Given the description of an element on the screen output the (x, y) to click on. 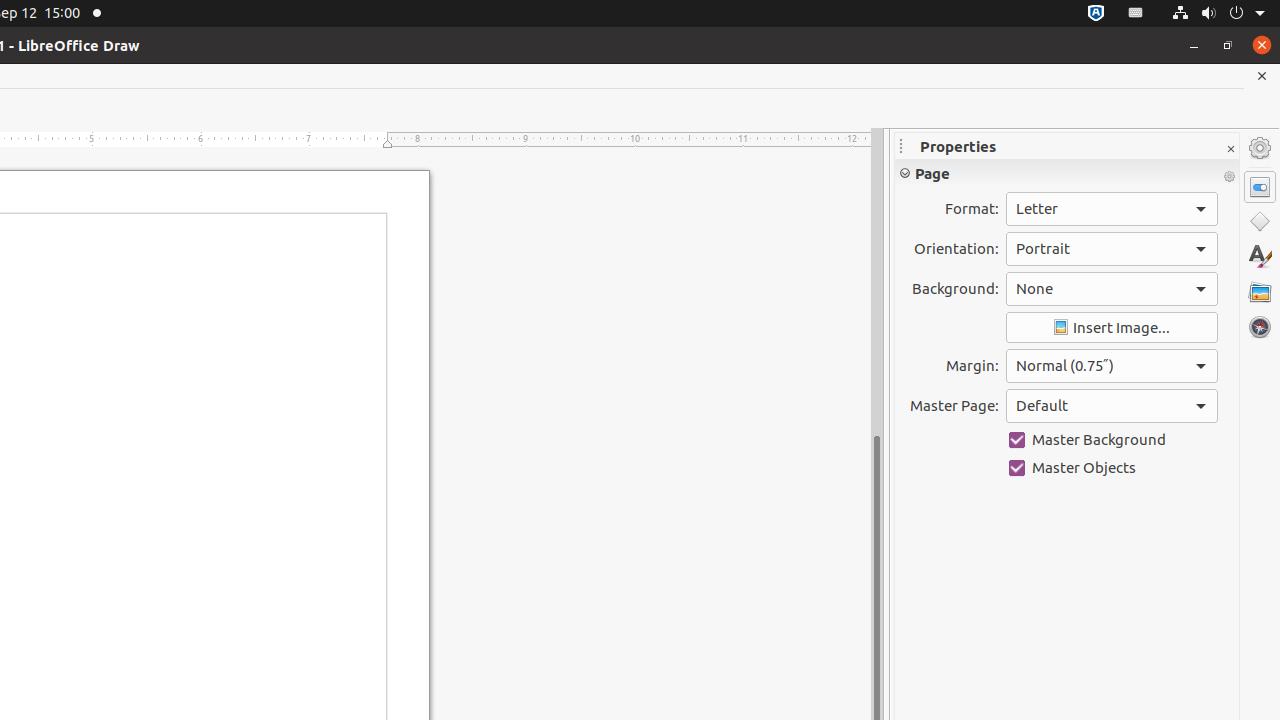
Orientation: Element type: combo-box (1112, 249)
Properties Element type: radio-button (1260, 187)
